Given the description of an element on the screen output the (x, y) to click on. 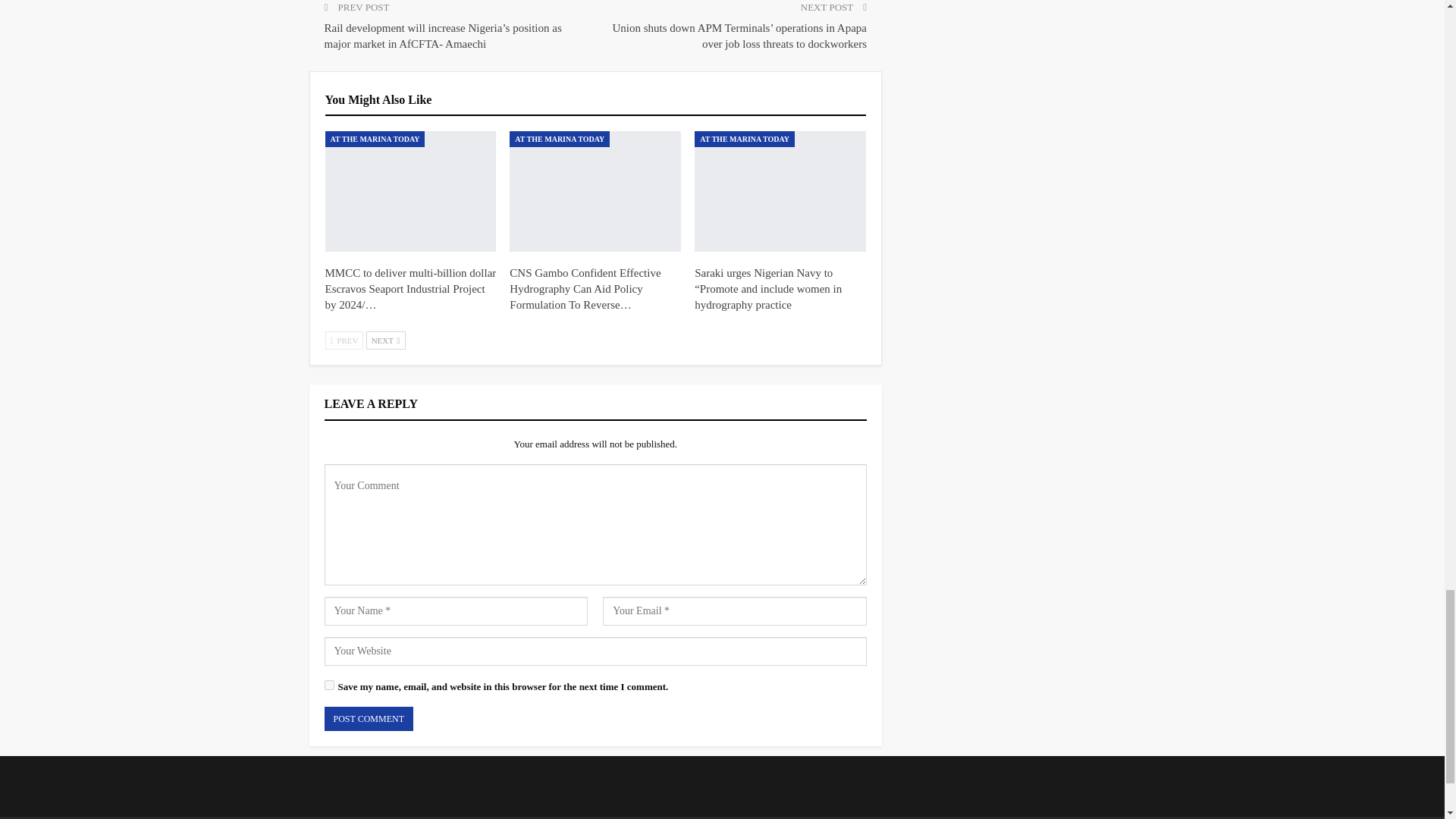
yes (329, 685)
Post Comment (368, 719)
